Given the description of an element on the screen output the (x, y) to click on. 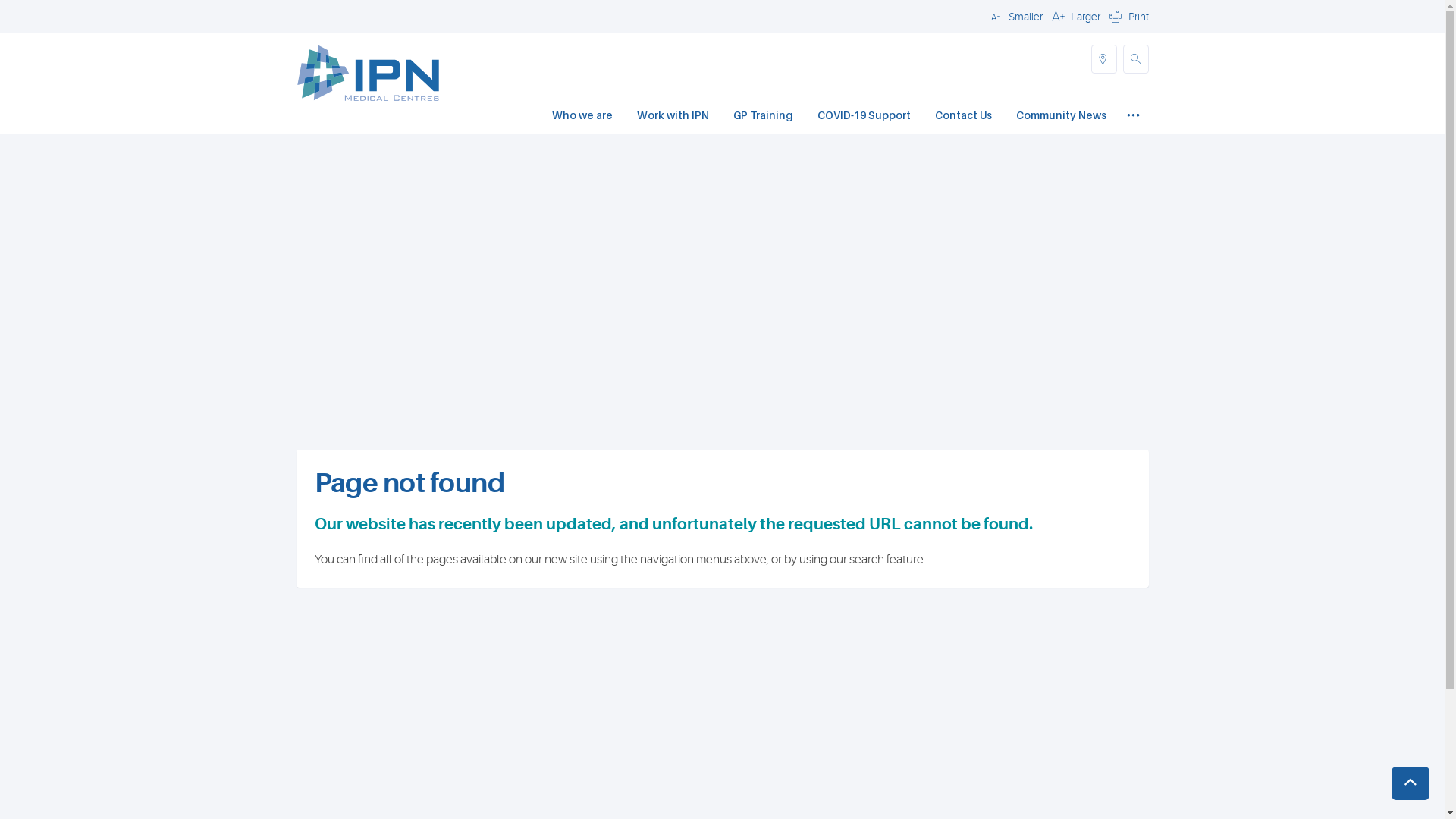
COVID-19 Support Element type: text (863, 116)
Print Element type: text (1126, 15)
Work with IPN Element type: text (673, 116)
GP Training Element type: text (762, 116)
Larger Element type: text (1073, 15)
location Element type: hover (1103, 58)
Contact Us Element type: text (962, 116)
Community News Element type: text (1061, 116)
Who we are Element type: text (582, 116)
Smaller Element type: text (1013, 15)
